Given the description of an element on the screen output the (x, y) to click on. 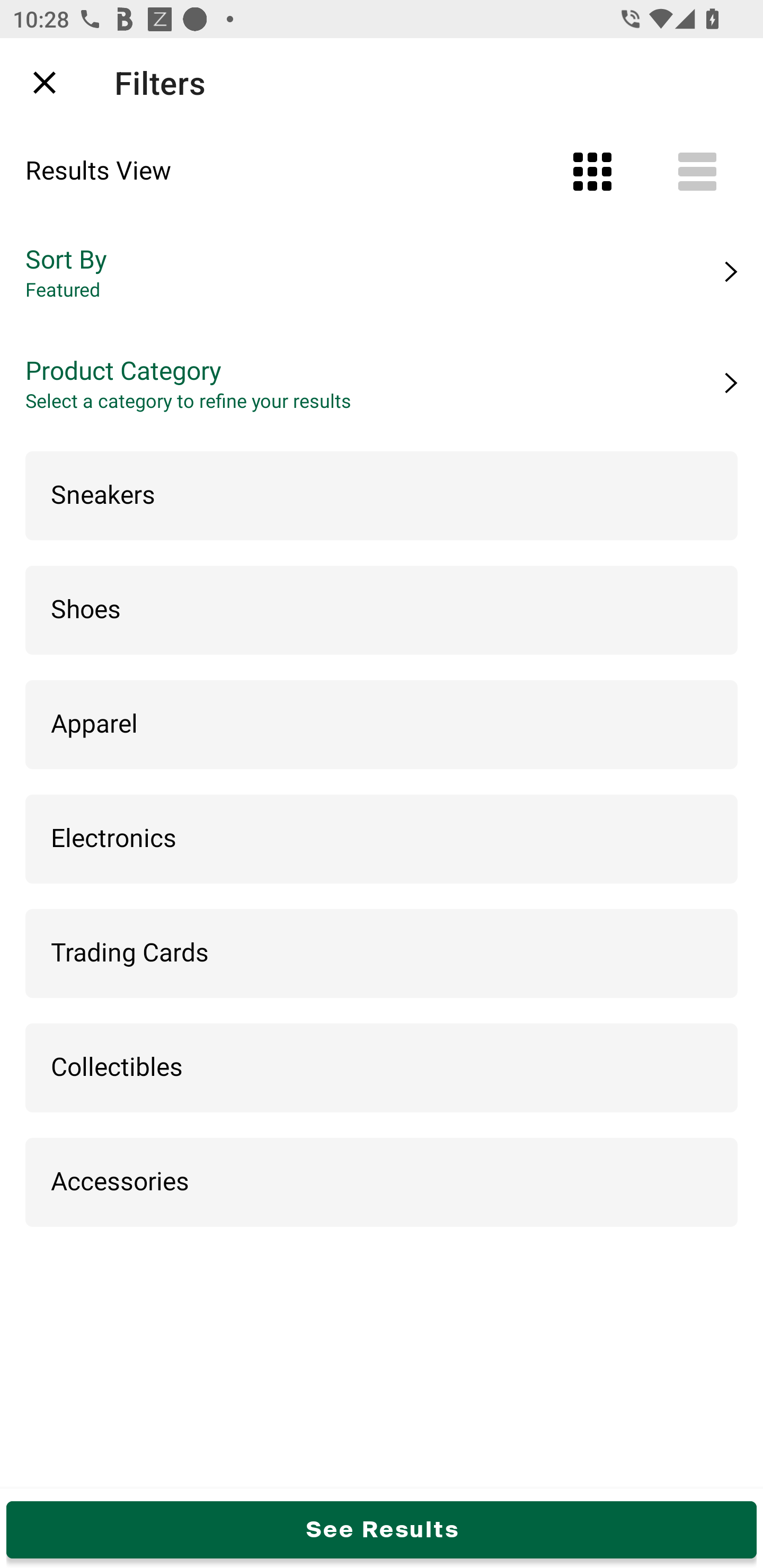
soccer shoes (370, 82)
Grid View (591, 171)
List View (697, 171)
Sort By Featured Next (381, 271)
Sneakers (381, 496)
Shoes (381, 610)
Apparel (381, 724)
Electronics (381, 839)
Trading Cards (381, 953)
Collectibles (381, 1068)
Accessories (381, 1182)
See Results (381, 1529)
